Given the description of an element on the screen output the (x, y) to click on. 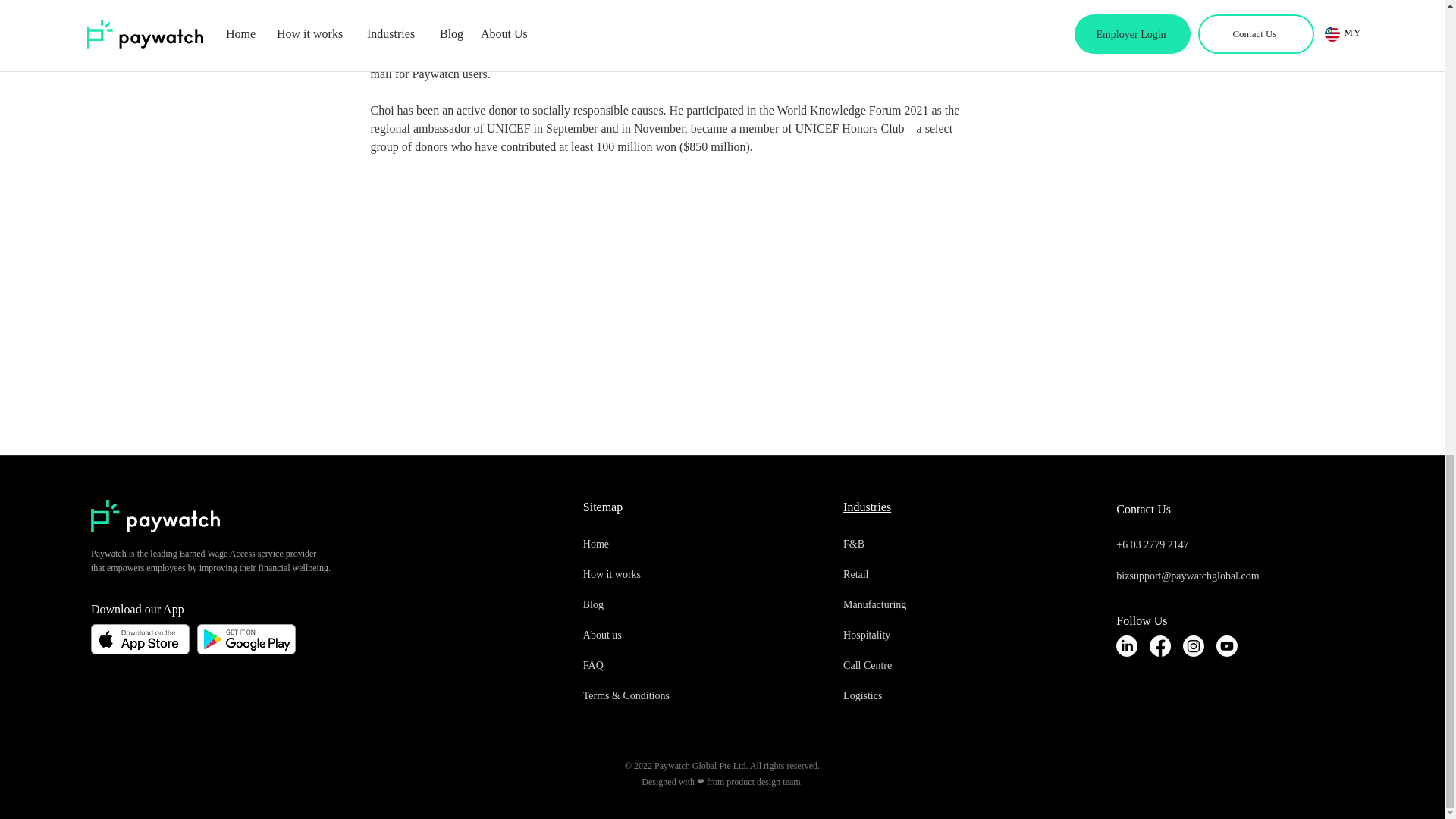
Manufacturing (912, 604)
Call Centre (912, 665)
Hospitality (912, 634)
Industries (867, 506)
About us (651, 634)
Logistics (912, 695)
FAQ (651, 665)
How it works (651, 574)
Home (651, 544)
Retail (912, 574)
Blog (651, 604)
